Given the description of an element on the screen output the (x, y) to click on. 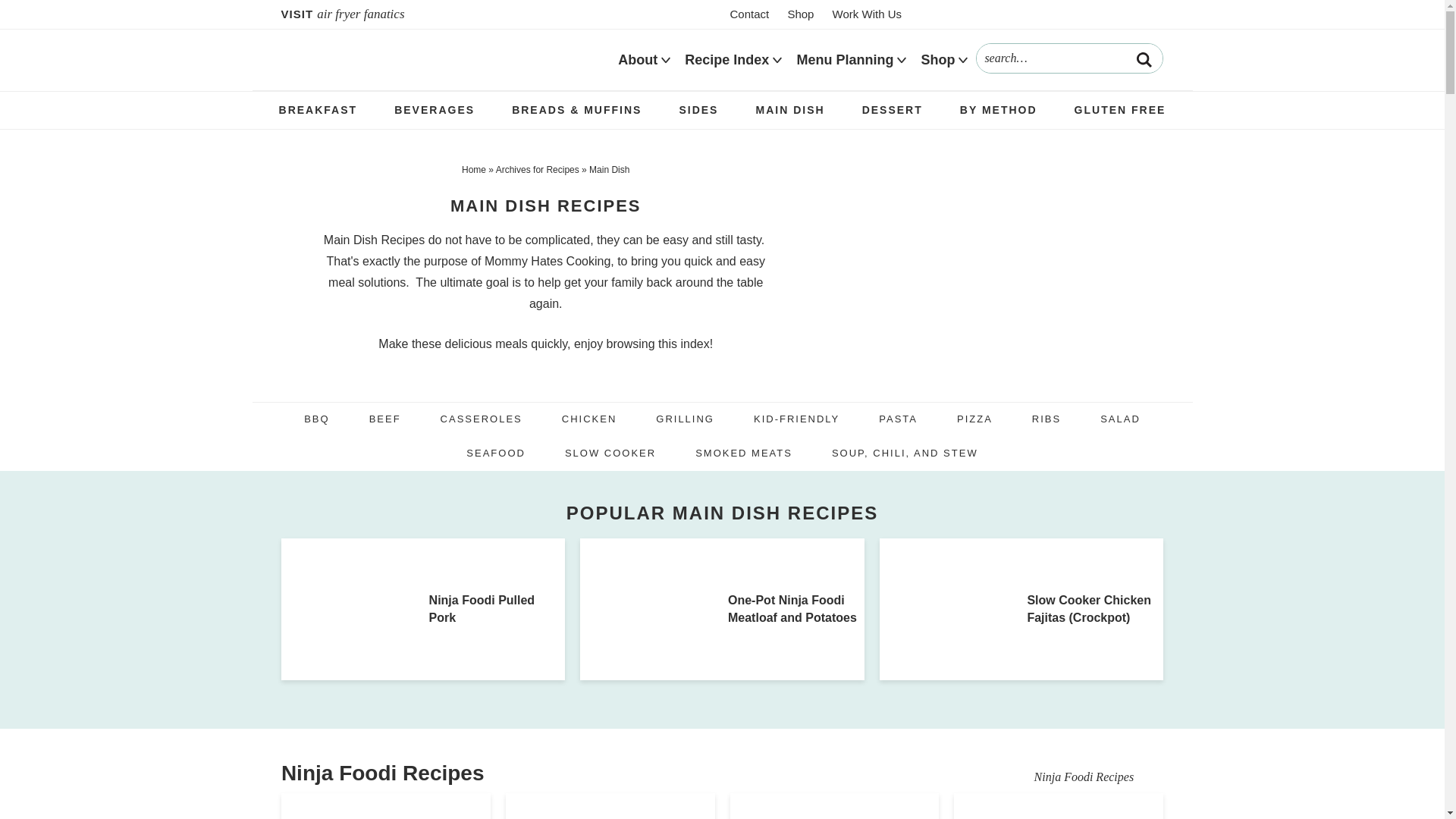
Recipe Index (727, 59)
Search for (1068, 58)
Contact (749, 13)
Work With Us (866, 13)
Shop (799, 13)
About (637, 59)
MOMMY HATES COOKING (435, 59)
air fryer fanatics (375, 13)
